Given the description of an element on the screen output the (x, y) to click on. 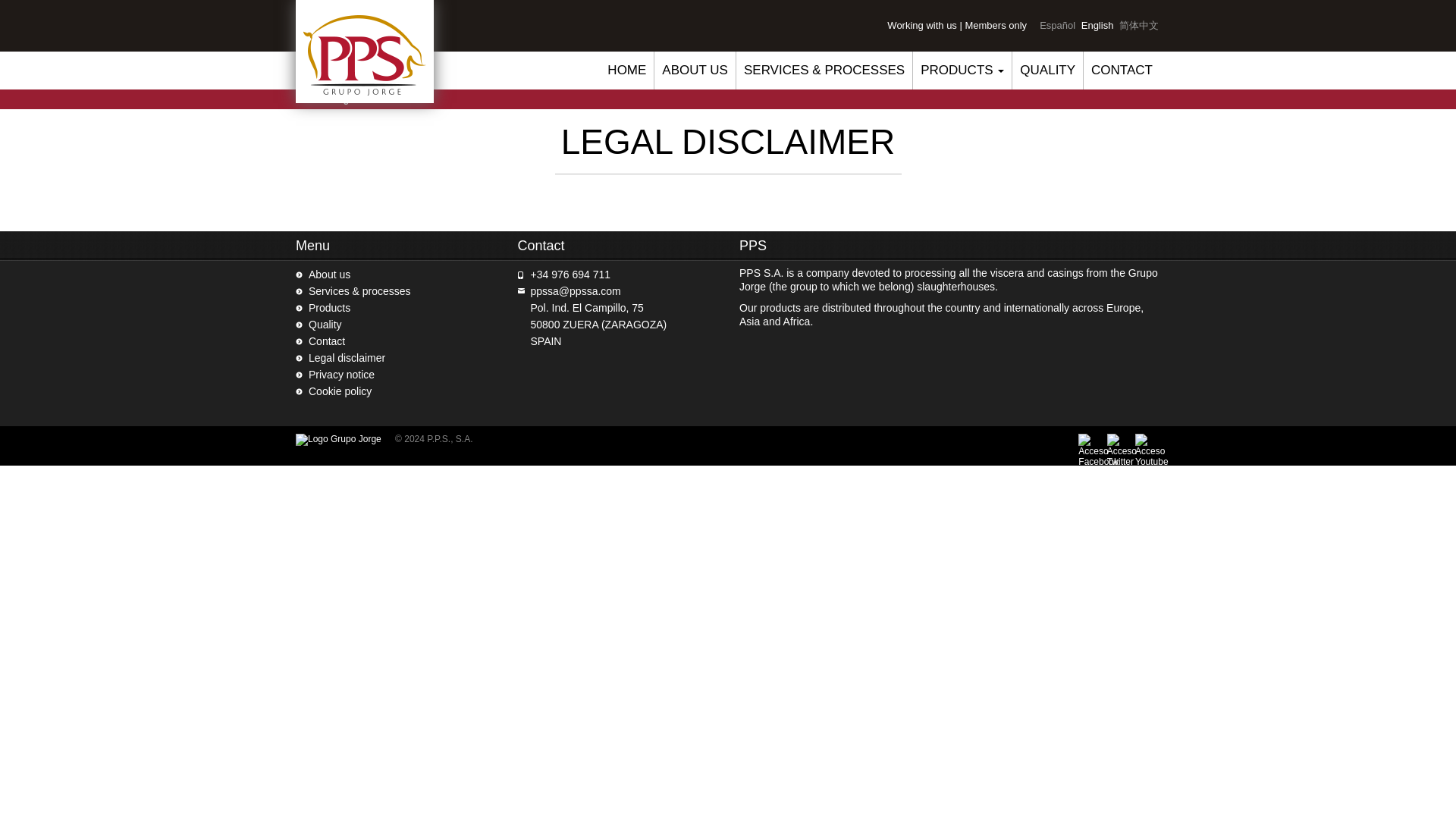
Legal disclaimer (1097, 25)
Legal disclaimer (346, 357)
Products (329, 307)
Quality (325, 324)
Home (307, 99)
Legal disclaimer (346, 357)
Working with us (921, 25)
Privacy notice (341, 374)
Members only (994, 25)
CONTACT (1121, 70)
Members only (994, 25)
English (1097, 25)
Quality (325, 324)
QUALITY (1047, 70)
